Given the description of an element on the screen output the (x, y) to click on. 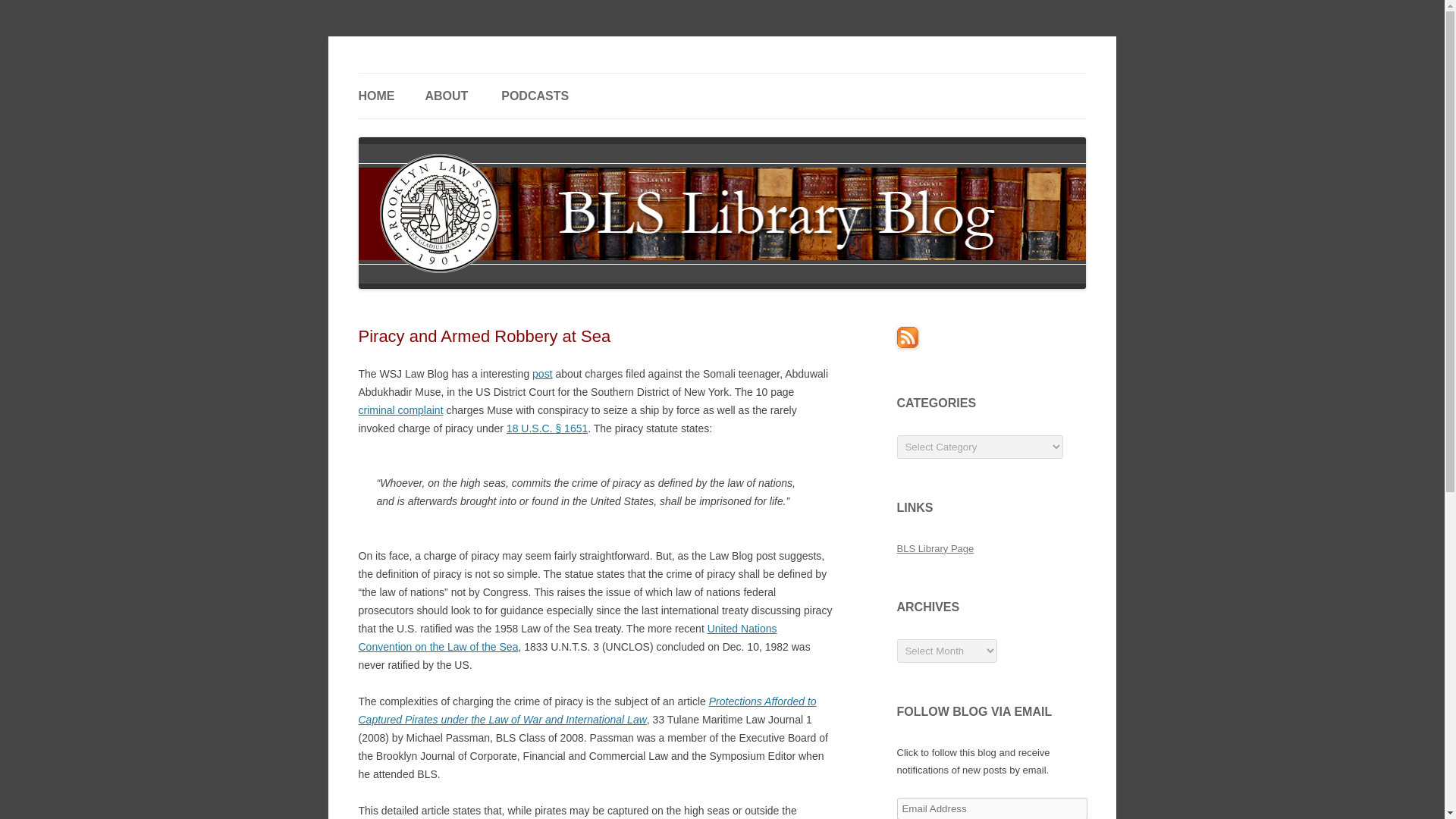
criminal complaint (400, 410)
Skip to content (757, 77)
BLS Library Page (935, 548)
Skip to content (757, 77)
PODCASTS (534, 95)
post (541, 373)
BLS Library Blog (438, 72)
Subscribe to posts (906, 344)
ABOUT (446, 95)
